Given the description of an element on the screen output the (x, y) to click on. 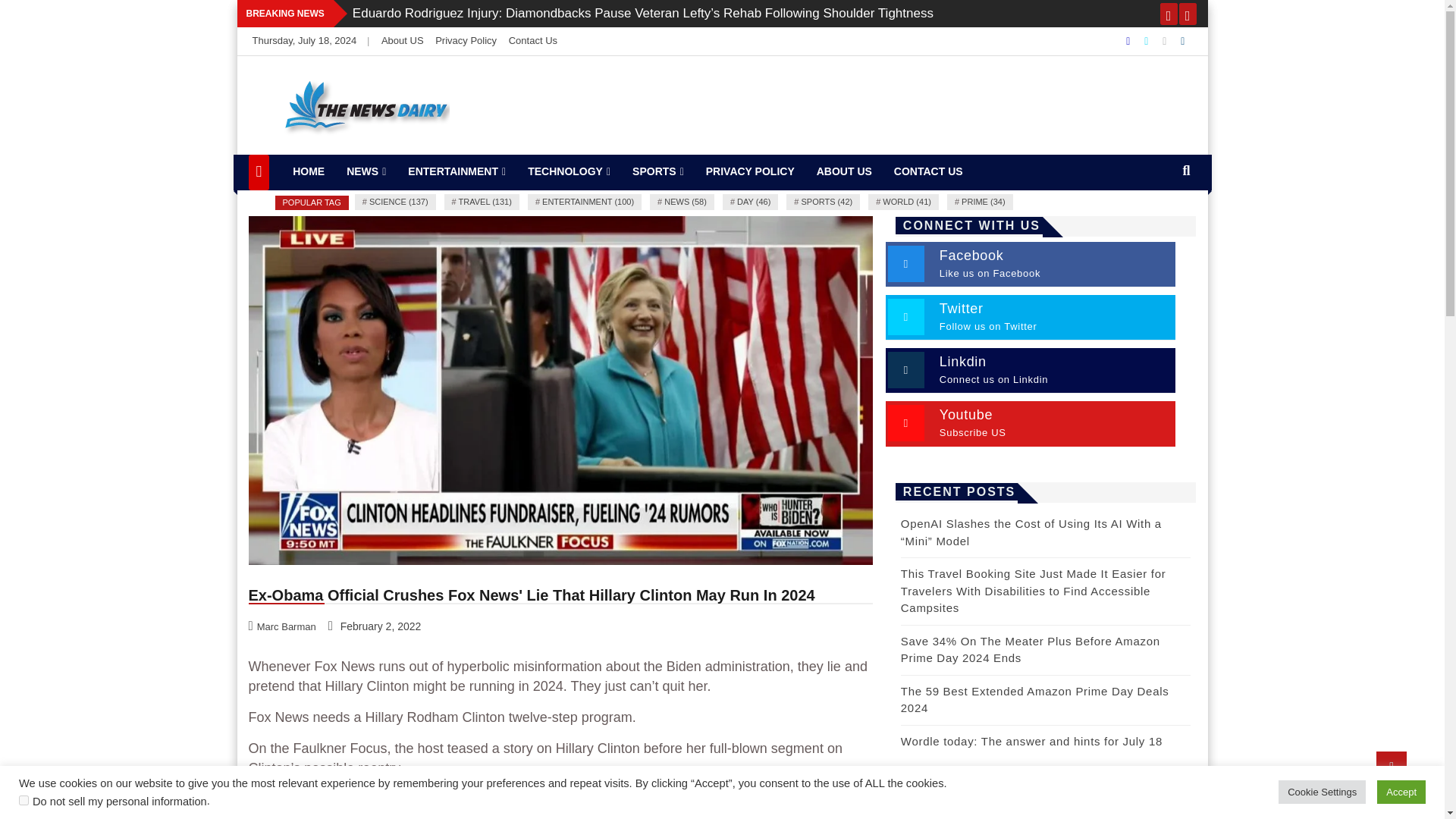
NEWS (366, 171)
Contact Us (532, 40)
About US (402, 40)
HOME (308, 171)
Privacy Policy (465, 40)
The News Dairy (353, 152)
on (23, 800)
